Given the description of an element on the screen output the (x, y) to click on. 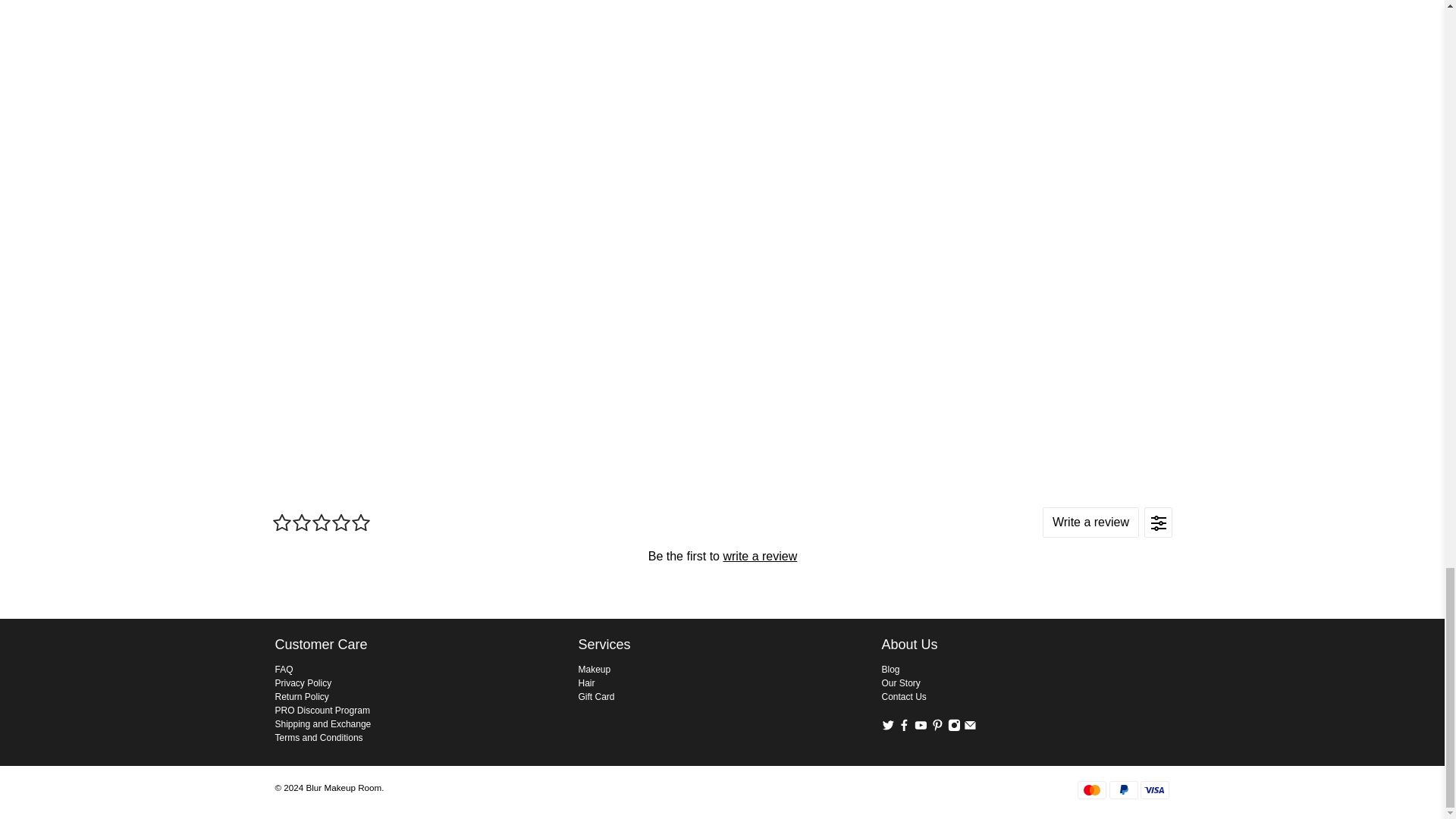
Blur Makeup Room on YouTube (920, 727)
Blur Makeup Room on Pinterest (937, 727)
Email Blur Makeup Room (969, 727)
Blur Makeup Room on Facebook (904, 727)
Blur Makeup Room on Instagram (953, 727)
Product reviews widget (721, 555)
Blur Makeup Room on Twitter (886, 727)
